Given the description of an element on the screen output the (x, y) to click on. 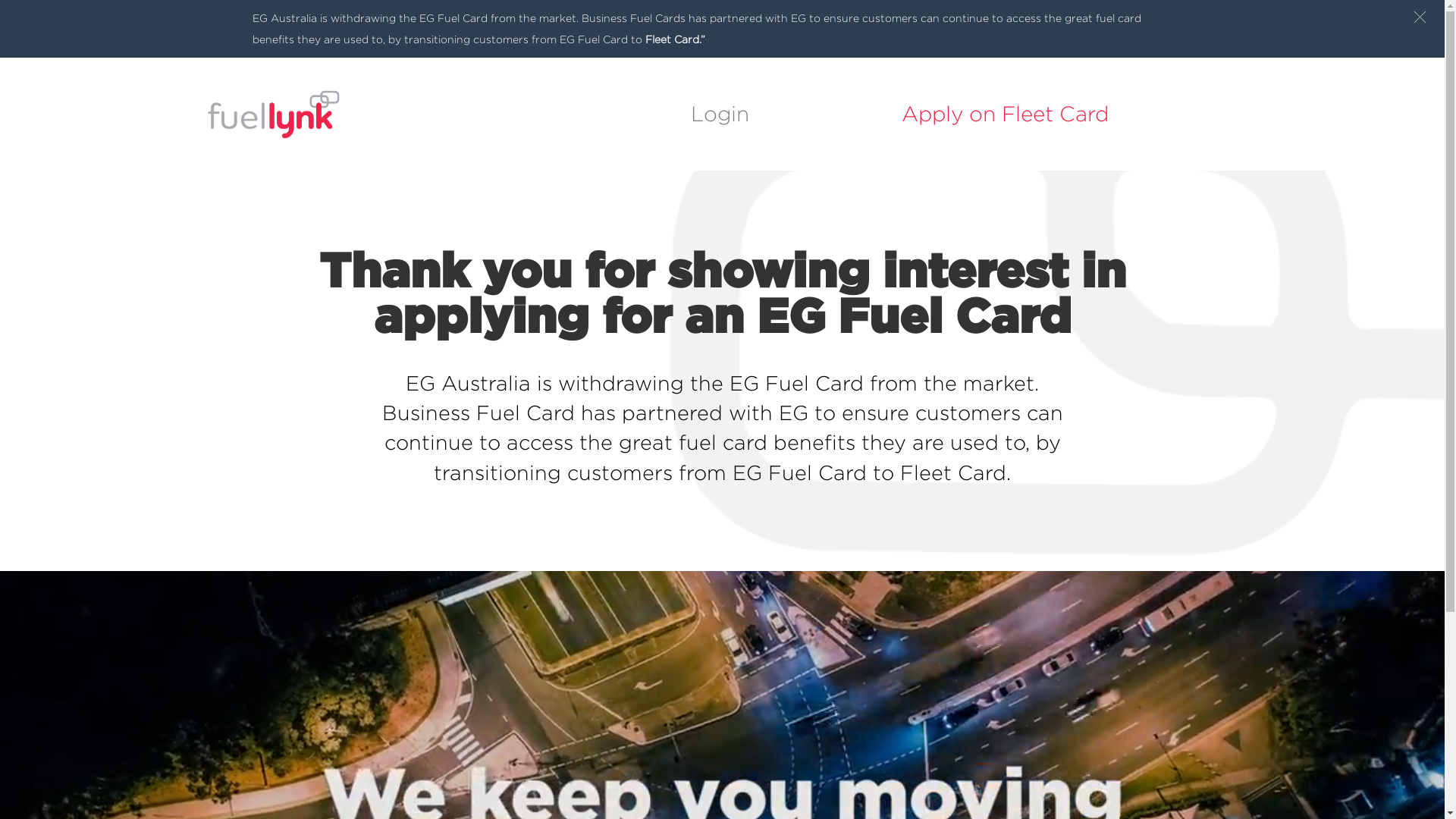
Fleet Card. Element type: text (955, 472)
Apply on Fleet Card Element type: text (1004, 113)
Login Element type: text (719, 113)
Fleet Card. Element type: text (671, 38)
